Given the description of an element on the screen output the (x, y) to click on. 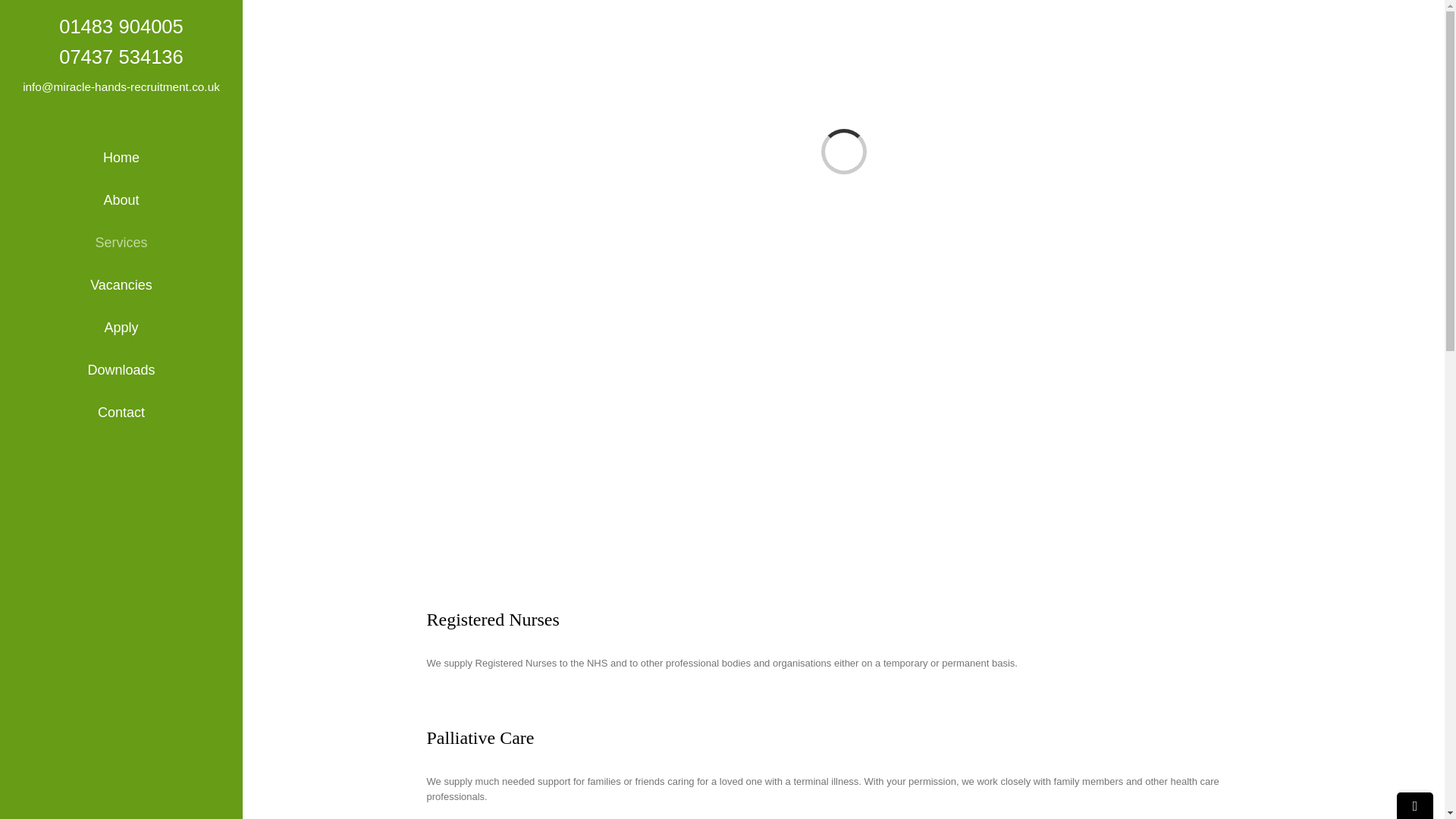
01483 904005 (121, 25)
Downloads (121, 370)
Vacancies (121, 285)
Apply (121, 328)
Contact (121, 413)
About (121, 200)
07437 534136 (121, 56)
Services (121, 242)
Home (121, 157)
